Given the description of an element on the screen output the (x, y) to click on. 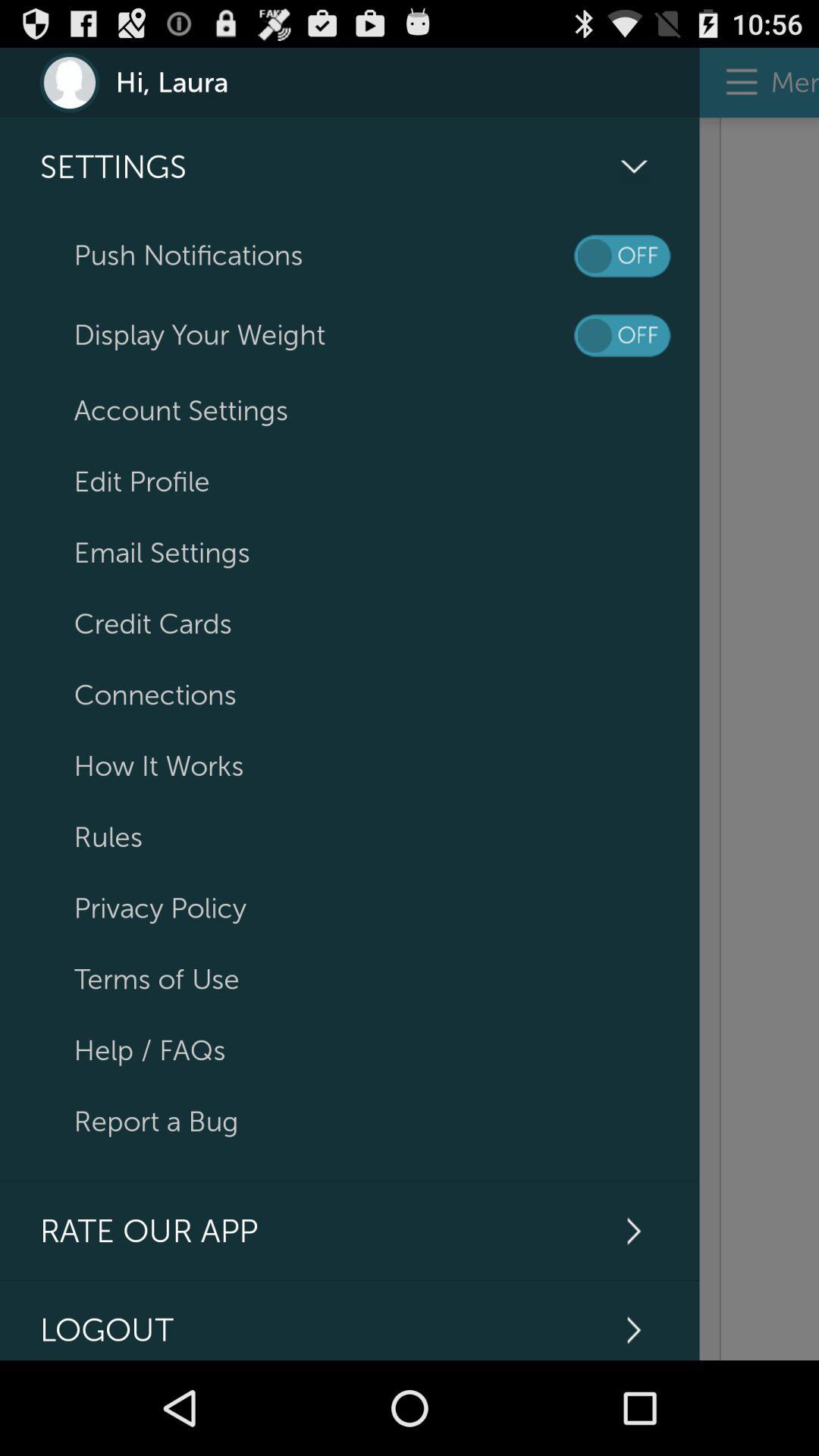
turn on/off weight display (622, 335)
